Given the description of an element on the screen output the (x, y) to click on. 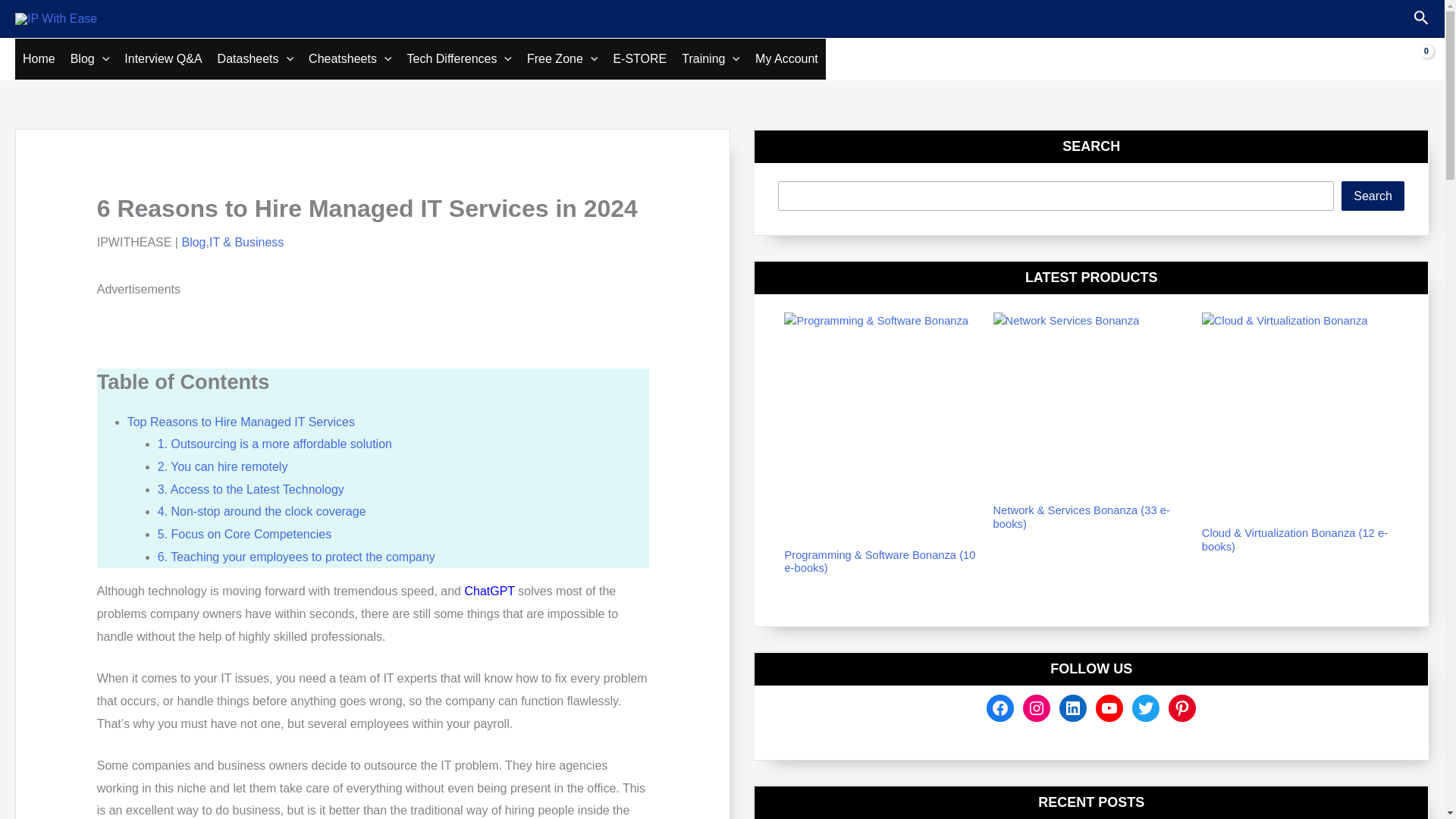
Home (38, 58)
Datasheets (255, 58)
Blog (89, 58)
